Given the description of an element on the screen output the (x, y) to click on. 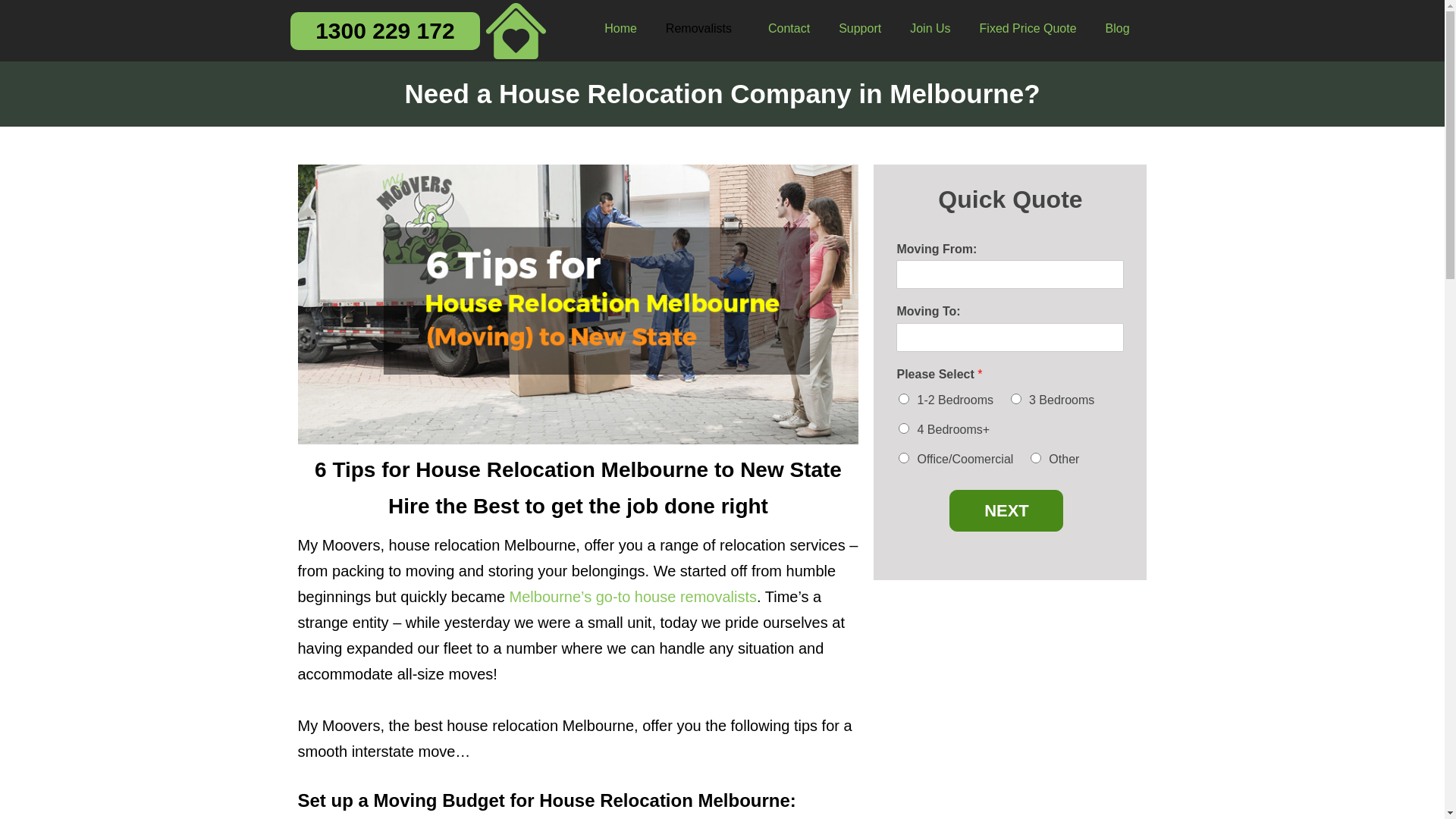
Support Element type: text (859, 28)
Home Element type: text (620, 28)
Removalists Element type: text (702, 28)
1300 229 172 Element type: text (385, 30)
NEXT Element type: text (1006, 510)
Fixed Price Quote Element type: text (1028, 28)
Join Us Element type: text (929, 28)
Blog Element type: text (1117, 28)
Contact Element type: text (788, 28)
